Given the description of an element on the screen output the (x, y) to click on. 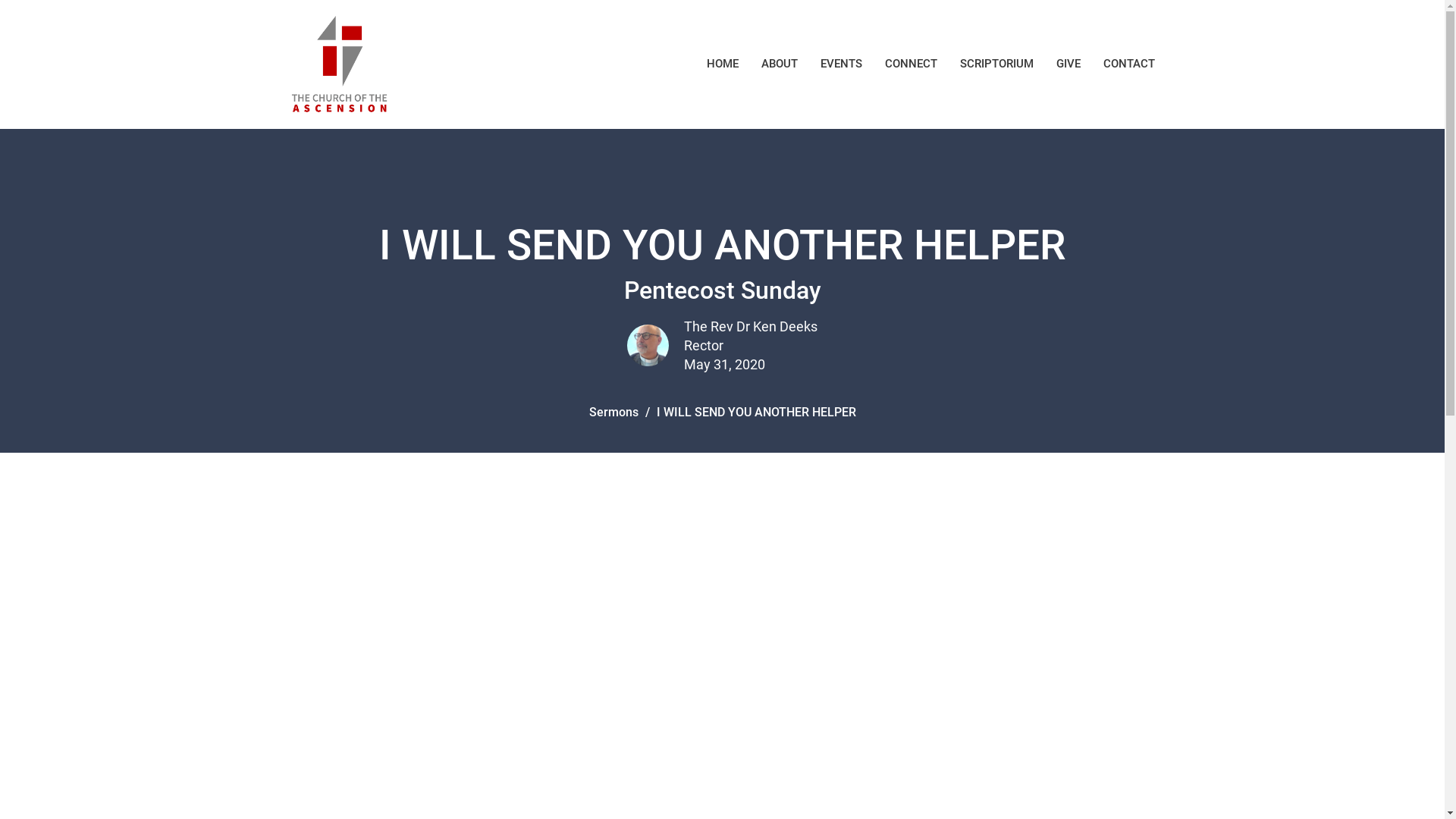
GIVE Element type: text (1067, 63)
HOME Element type: text (722, 63)
ABOUT Element type: text (779, 63)
SCRIPTORIUM Element type: text (996, 63)
EVENTS Element type: text (841, 63)
CONTACT Element type: text (1128, 63)
Sermons Element type: text (612, 411)
CONNECT Element type: text (910, 63)
